Given the description of an element on the screen output the (x, y) to click on. 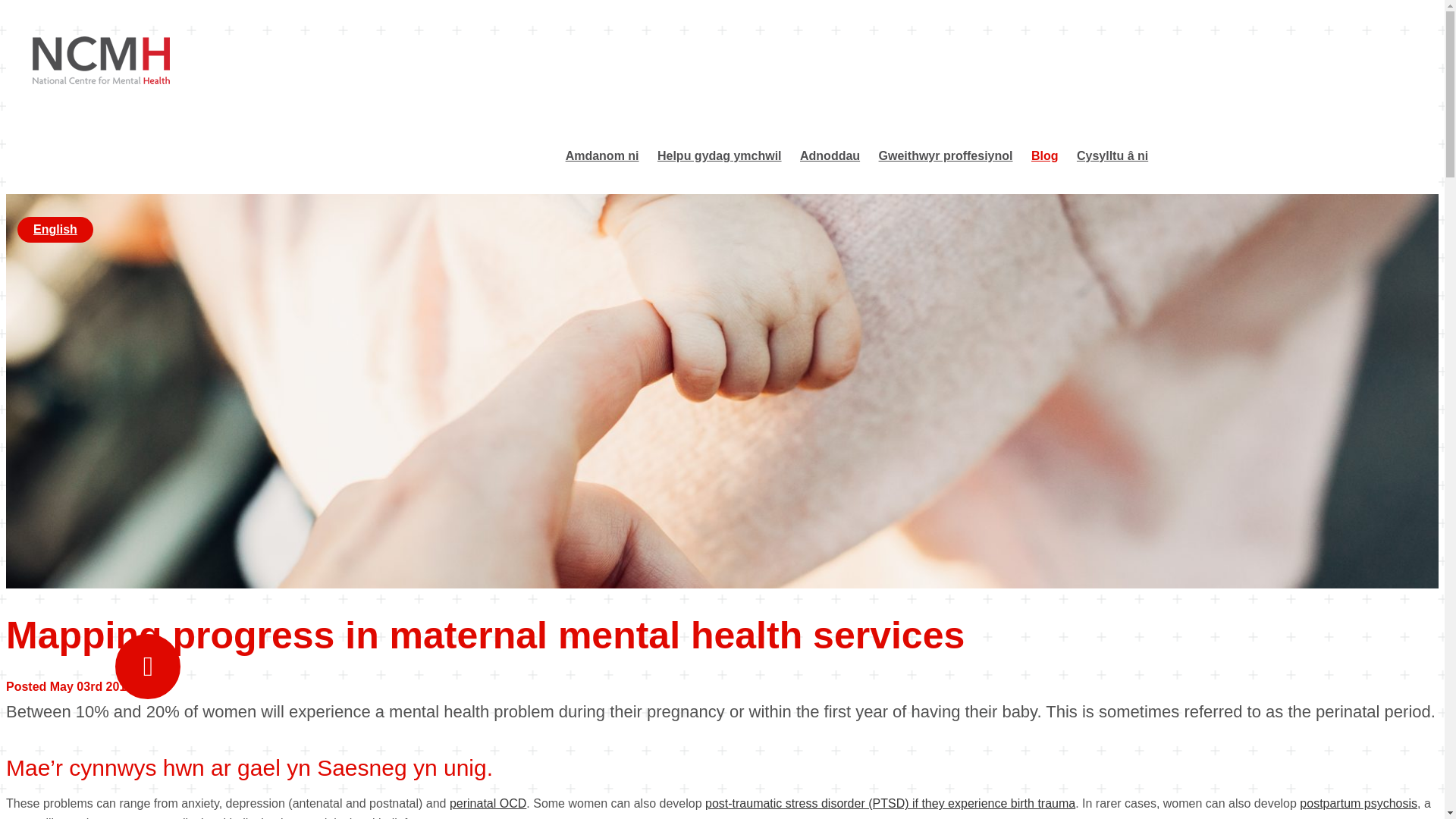
Gweithwyr proffesiynol (946, 155)
English (55, 229)
postpartum psychosis (1358, 802)
perinatal OCD (487, 802)
Helpu gydag ymchwil (719, 155)
Amdanom ni (602, 155)
